Given the description of an element on the screen output the (x, y) to click on. 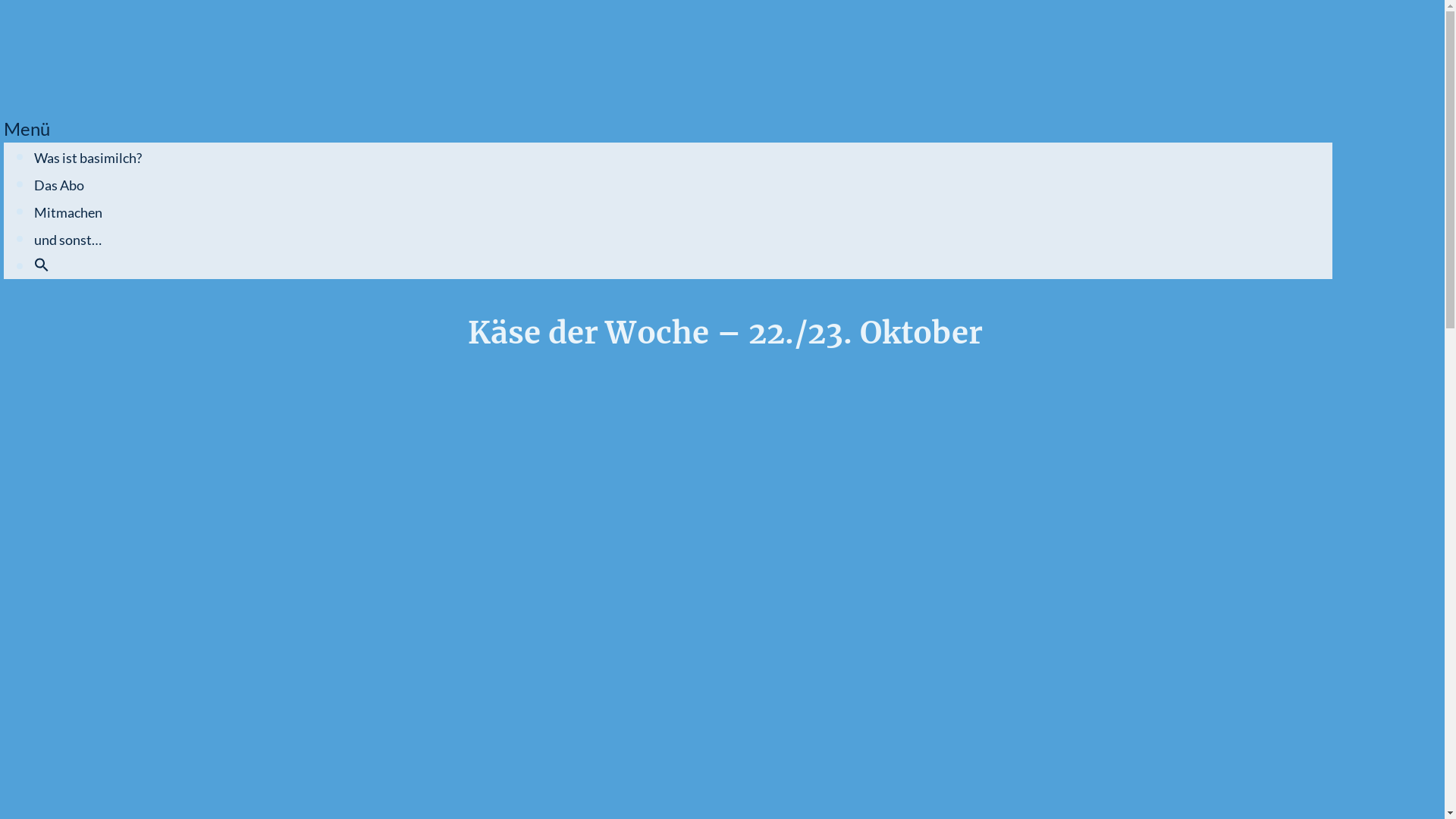
Was ist basimilch? Element type: text (87, 157)
Das Abo Element type: text (59, 184)
Mitmachen Element type: text (68, 211)
cropped-cropped-basimilch_logo_white_on_blue-1-1.png Element type: hover (54, 54)
